Given the description of an element on the screen output the (x, y) to click on. 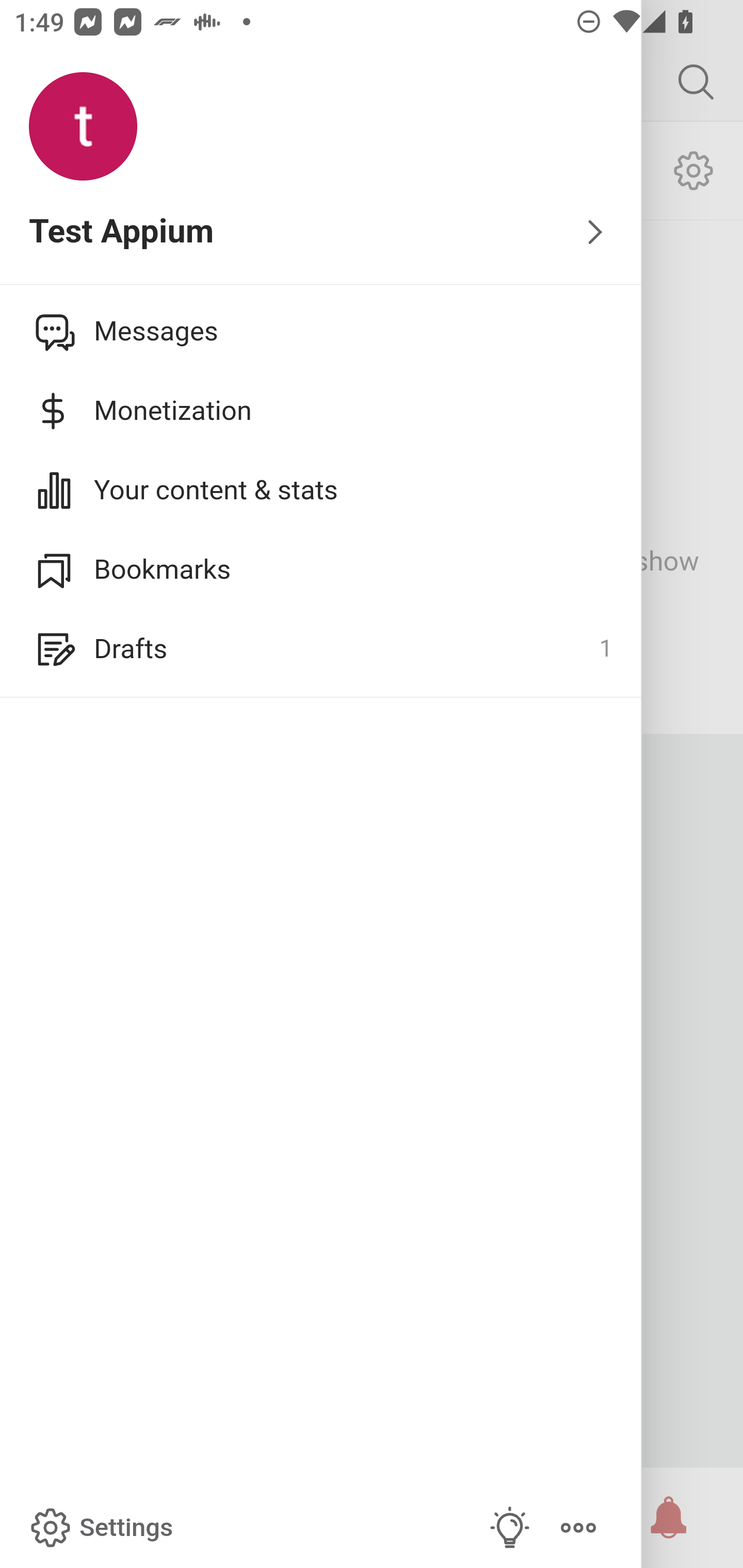
Profile photo for Test Appium (82, 126)
Test Appium (321, 232)
Messages (321, 330)
Monetization (321, 410)
Your content & stats (321, 489)
Bookmarks (321, 568)
Drafts 1 Drafts 1 (321, 648)
1 (605, 648)
Settings (99, 1527)
More (578, 1527)
